Given the description of an element on the screen output the (x, y) to click on. 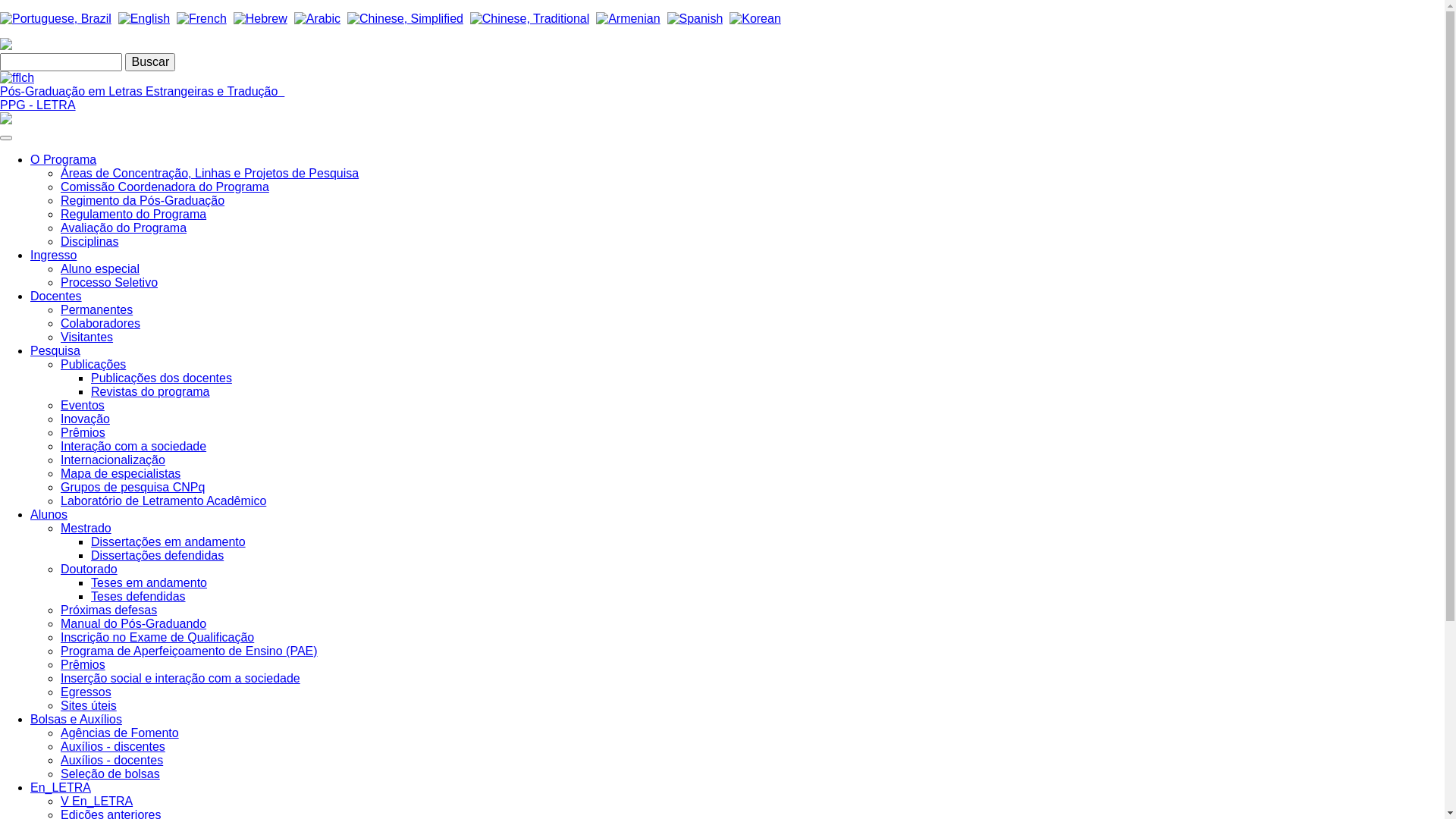
Pesquisa Element type: text (55, 350)
Revistas do programa Element type: text (150, 391)
Regulamento do Programa Element type: text (133, 213)
Spanish Element type: hover (695, 18)
Eventos Element type: text (82, 404)
Hebrew Element type: hover (260, 18)
Grupos de pesquisa CNPq Element type: text (132, 486)
Mestrado Element type: text (85, 527)
Colaboradores Element type: text (100, 322)
Alunos Element type: text (48, 514)
Processo Seletivo Element type: text (108, 282)
Mapa de especialistas Element type: text (120, 473)
Arabic Element type: hover (317, 18)
Portuguese, Brazil Element type: hover (55, 18)
En_LETRA Element type: text (60, 787)
Docentes Element type: text (55, 295)
PPG - LETRA Element type: text (37, 104)
Aluno especial Element type: text (99, 268)
Permanentes Element type: text (96, 309)
Visitantes Element type: text (86, 336)
Chinese, Simplified Element type: hover (405, 18)
Disciplinas Element type: text (89, 241)
Ingresso Element type: text (53, 254)
Teses em andamento Element type: text (149, 582)
V En_LETRA Element type: text (96, 800)
Egressos Element type: text (85, 691)
Chinese, Traditional Element type: hover (529, 18)
Doutorado Element type: text (88, 568)
O Programa Element type: text (63, 159)
English Element type: hover (143, 18)
Buscar Element type: text (150, 62)
Armenian Element type: hover (627, 18)
French Element type: hover (201, 18)
Teses defendidas Element type: text (138, 595)
